Given the description of an element on the screen output the (x, y) to click on. 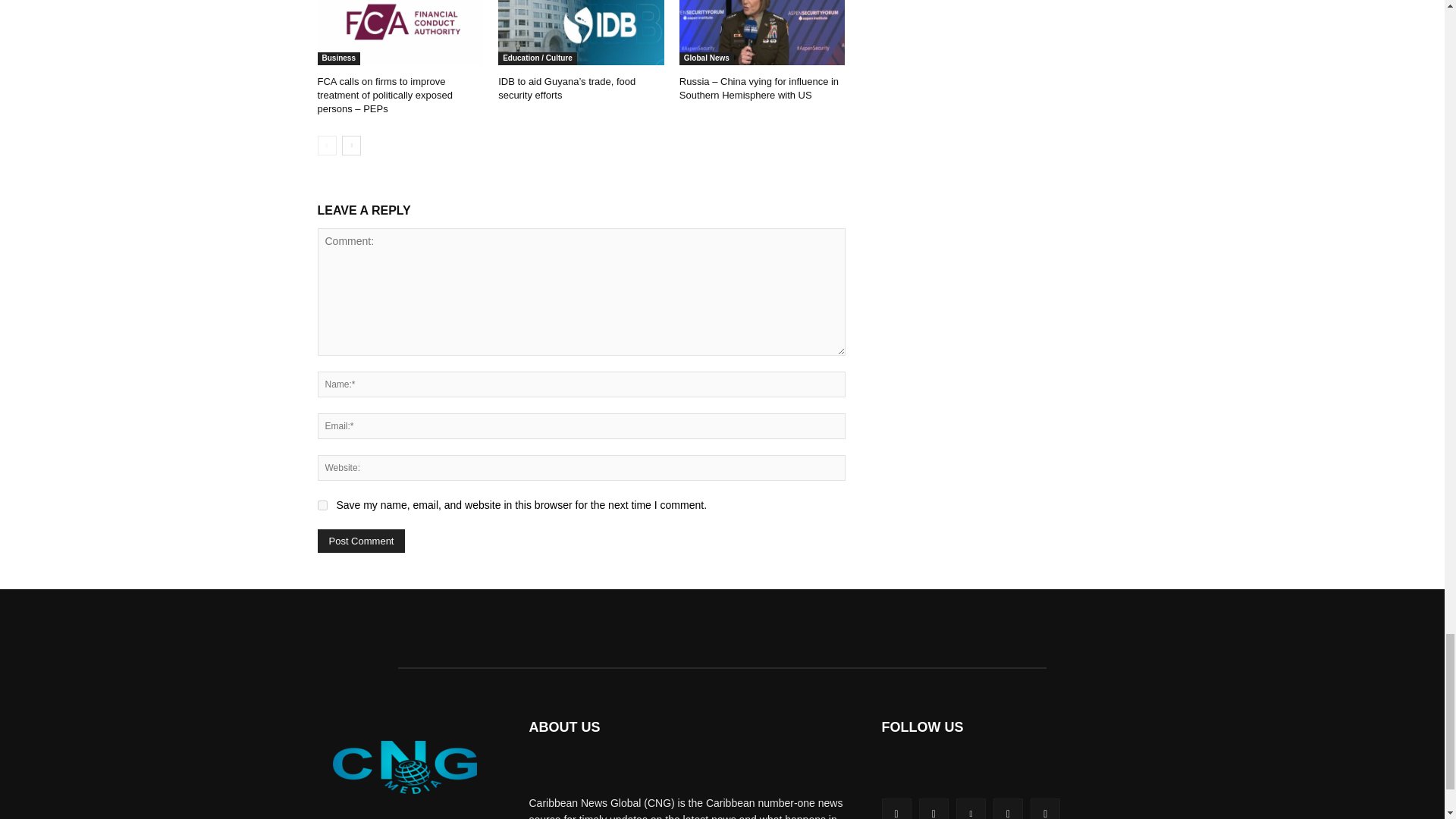
yes (321, 505)
Post Comment (360, 540)
